Given the description of an element on the screen output the (x, y) to click on. 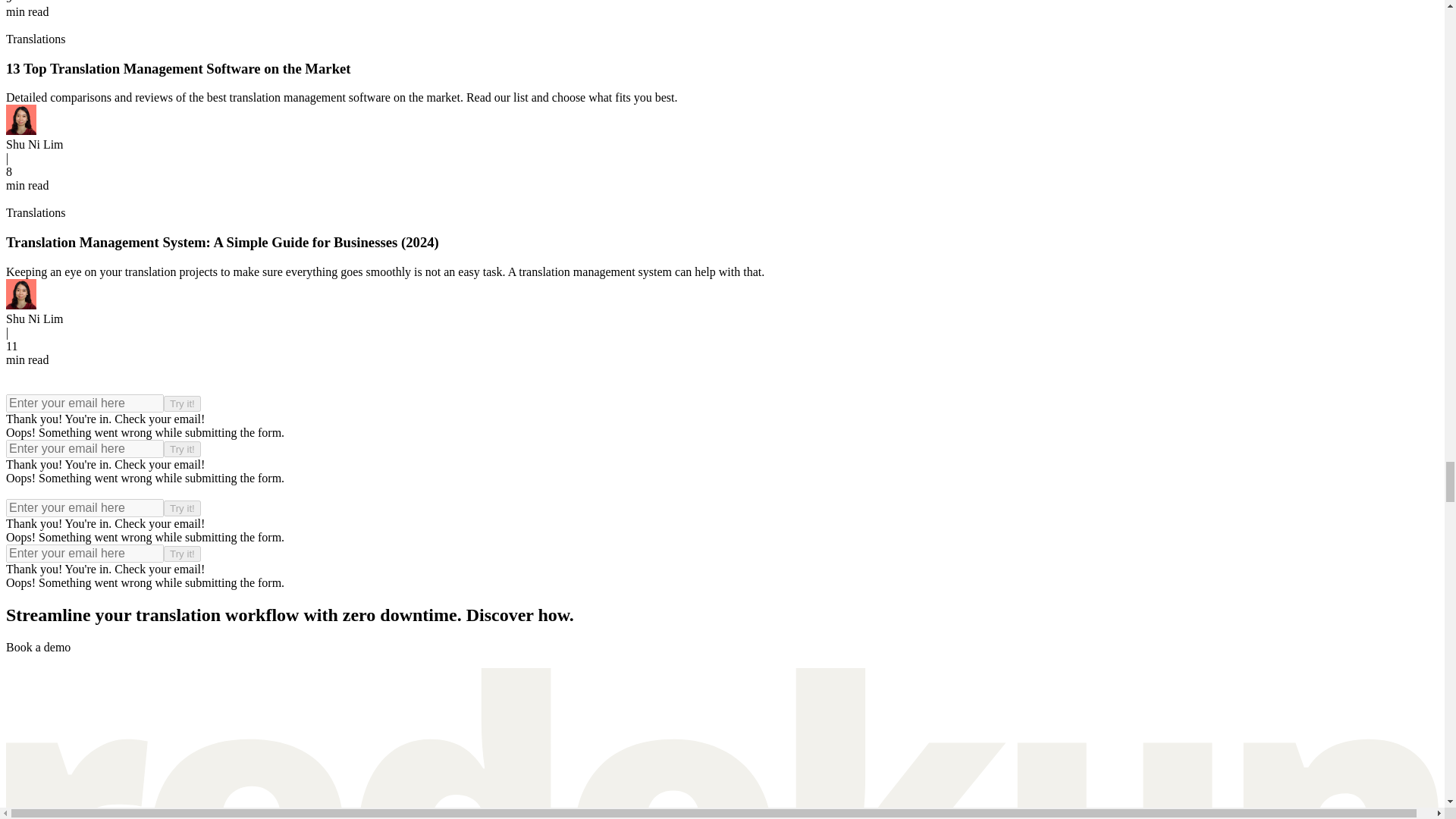
Try it! (181, 403)
Try it! (181, 508)
Try it! (181, 449)
Try it! (181, 553)
